Given the description of an element on the screen output the (x, y) to click on. 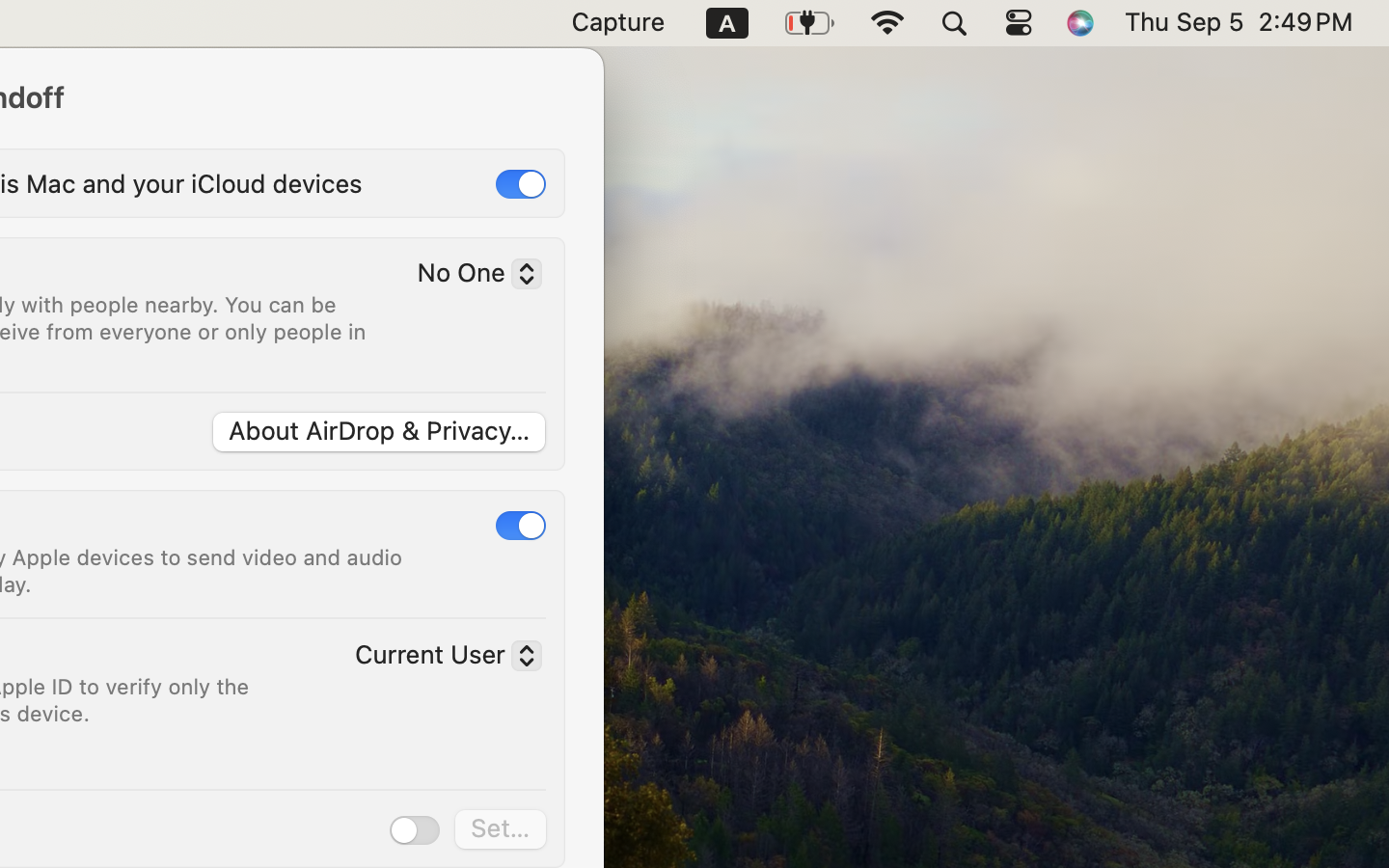
1 Element type: AXCheckBox (520, 183)
Current User Element type: AXPopUpButton (440, 658)
No One Element type: AXPopUpButton (471, 276)
